Given the description of an element on the screen output the (x, y) to click on. 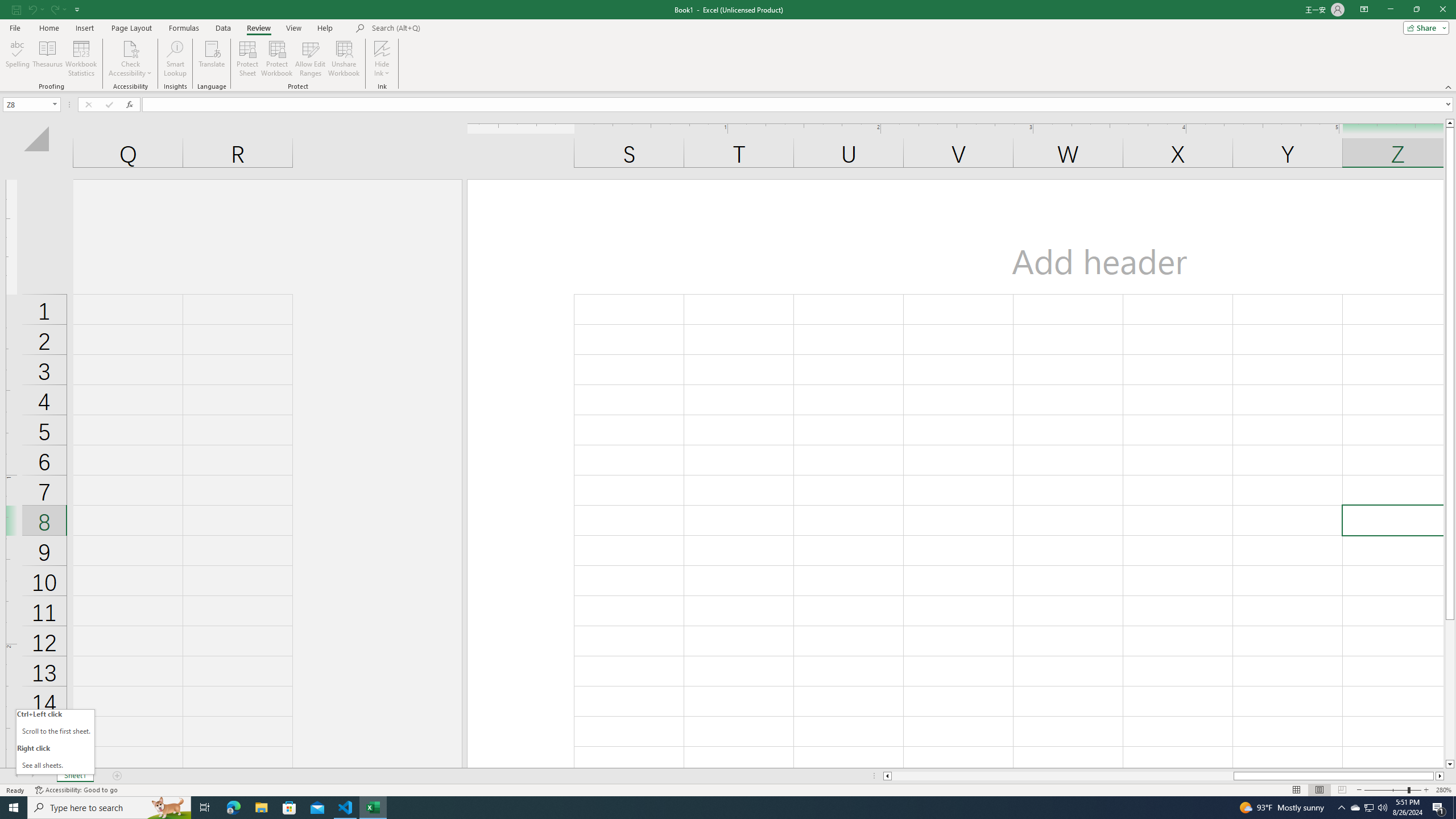
Allow Edit Ranges (310, 58)
Smart Lookup (175, 58)
